Given the description of an element on the screen output the (x, y) to click on. 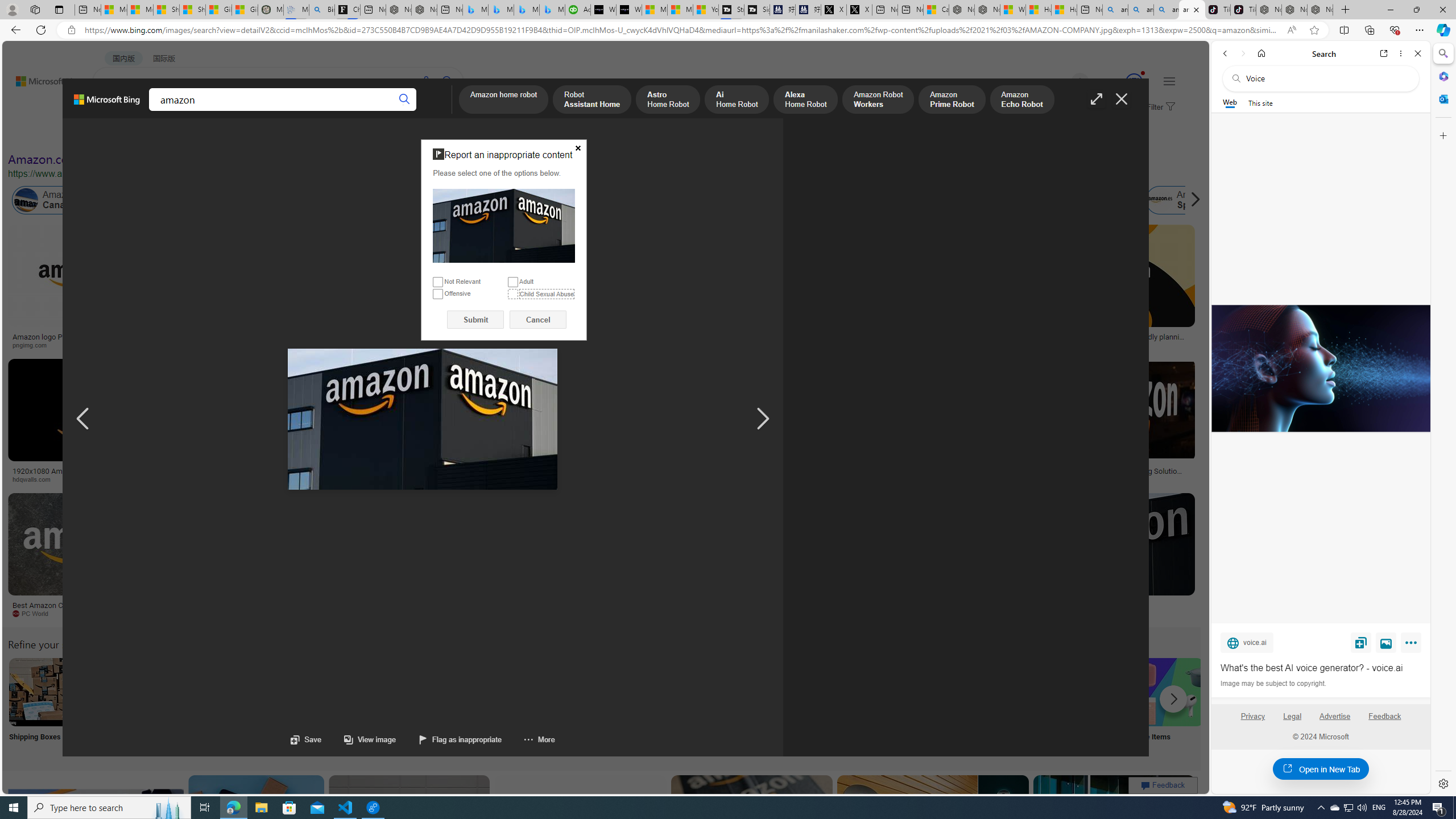
Nordace - Best Sellers (1268, 9)
Chloe Sorvino (347, 9)
Customize (1442, 135)
logopng.com.br (783, 344)
Advertise (1334, 720)
Advertise (1335, 715)
VIDEOS (260, 111)
Invisible focusable element for fixing accessibility issue (425, 142)
Amazon Mini TV (794, 691)
